Given the description of an element on the screen output the (x, y) to click on. 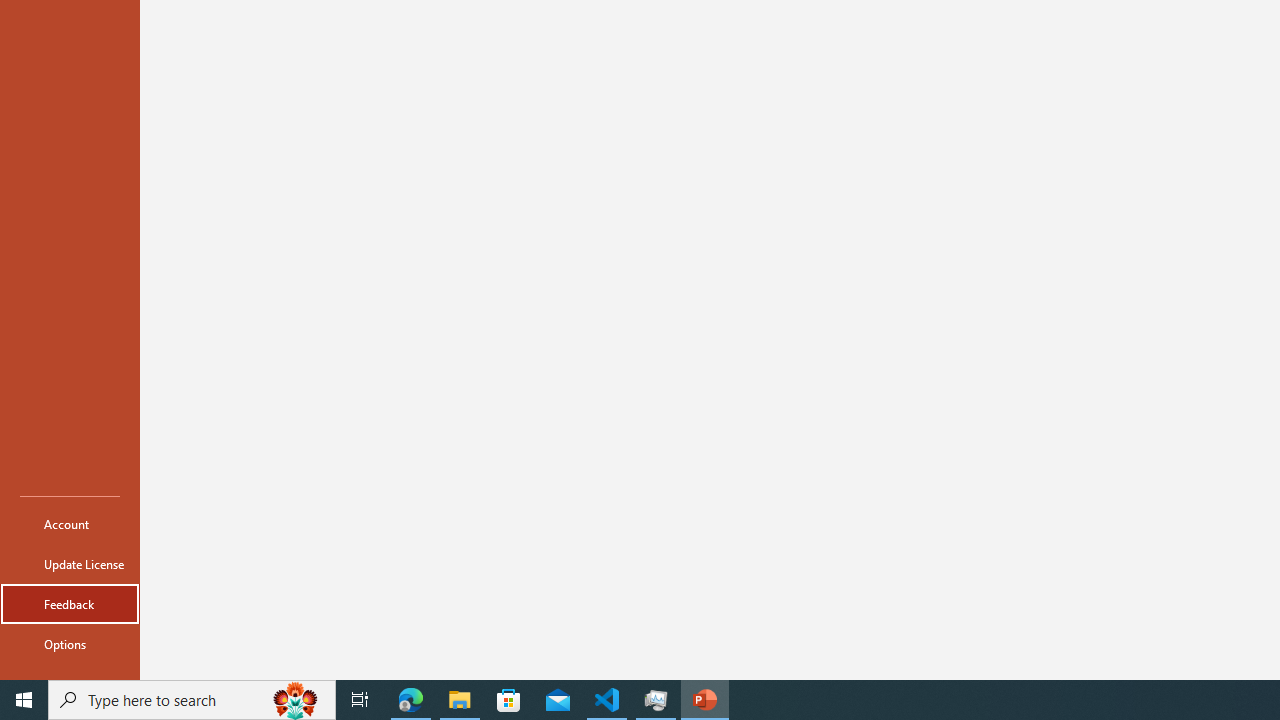
Feedback (69, 603)
Update License (69, 563)
Options (69, 643)
Account (69, 523)
